Given the description of an element on the screen output the (x, y) to click on. 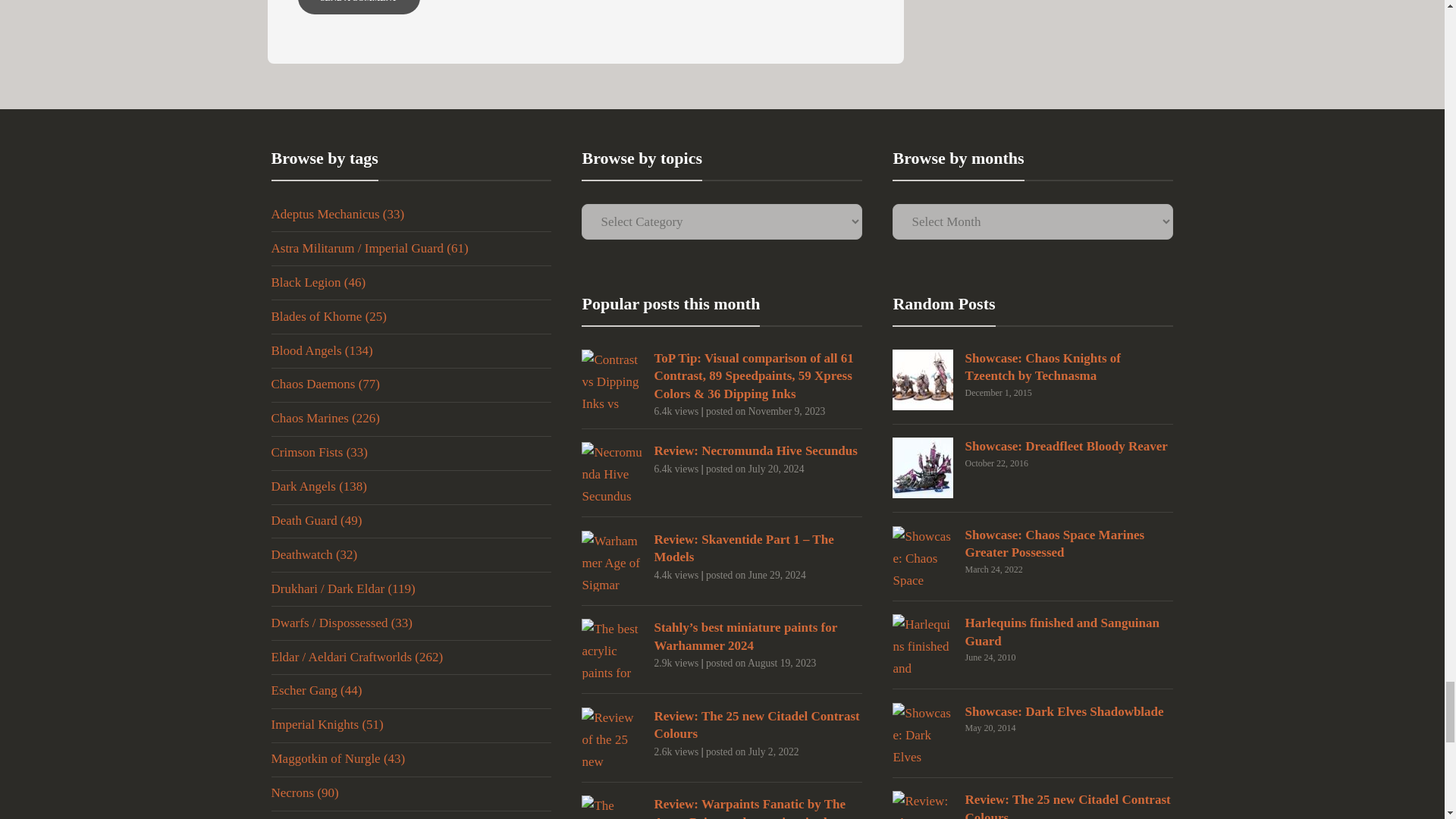
Send a comment (358, 7)
